Given the description of an element on the screen output the (x, y) to click on. 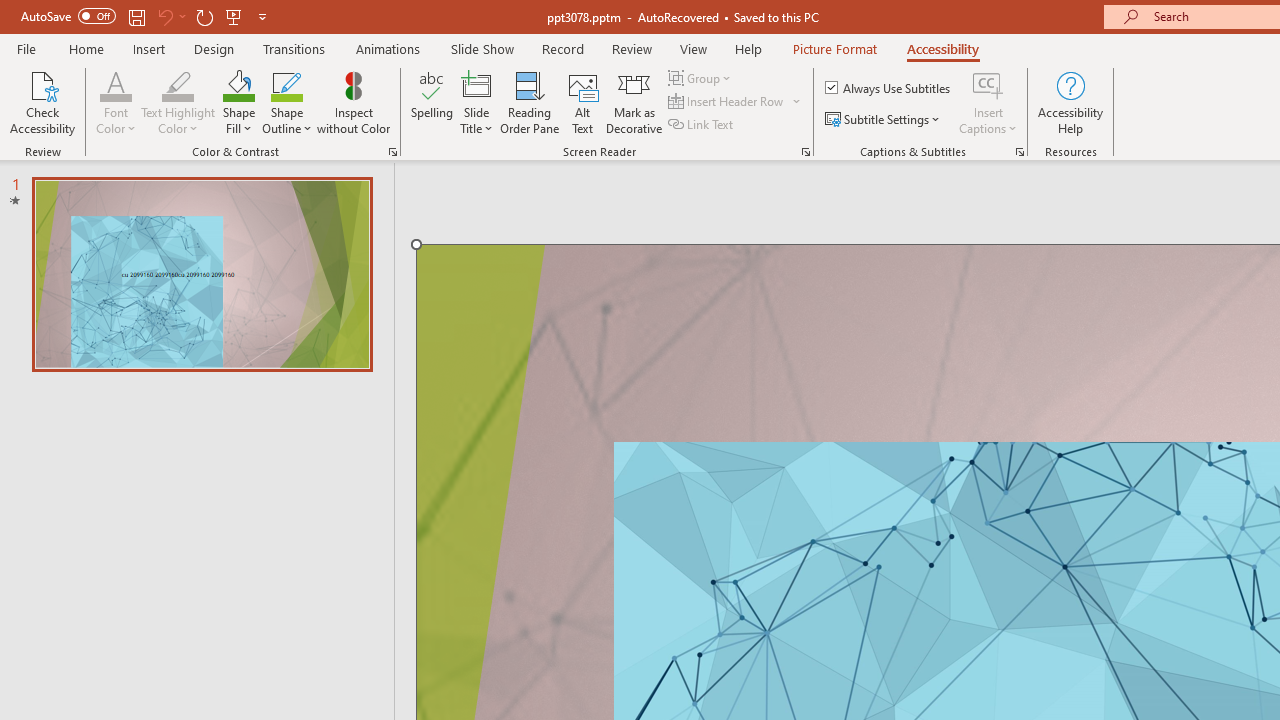
Always Use Subtitles (889, 87)
Picture Format (834, 48)
Inspect without Color (353, 102)
Color & Contrast (392, 151)
